Given the description of an element on the screen output the (x, y) to click on. 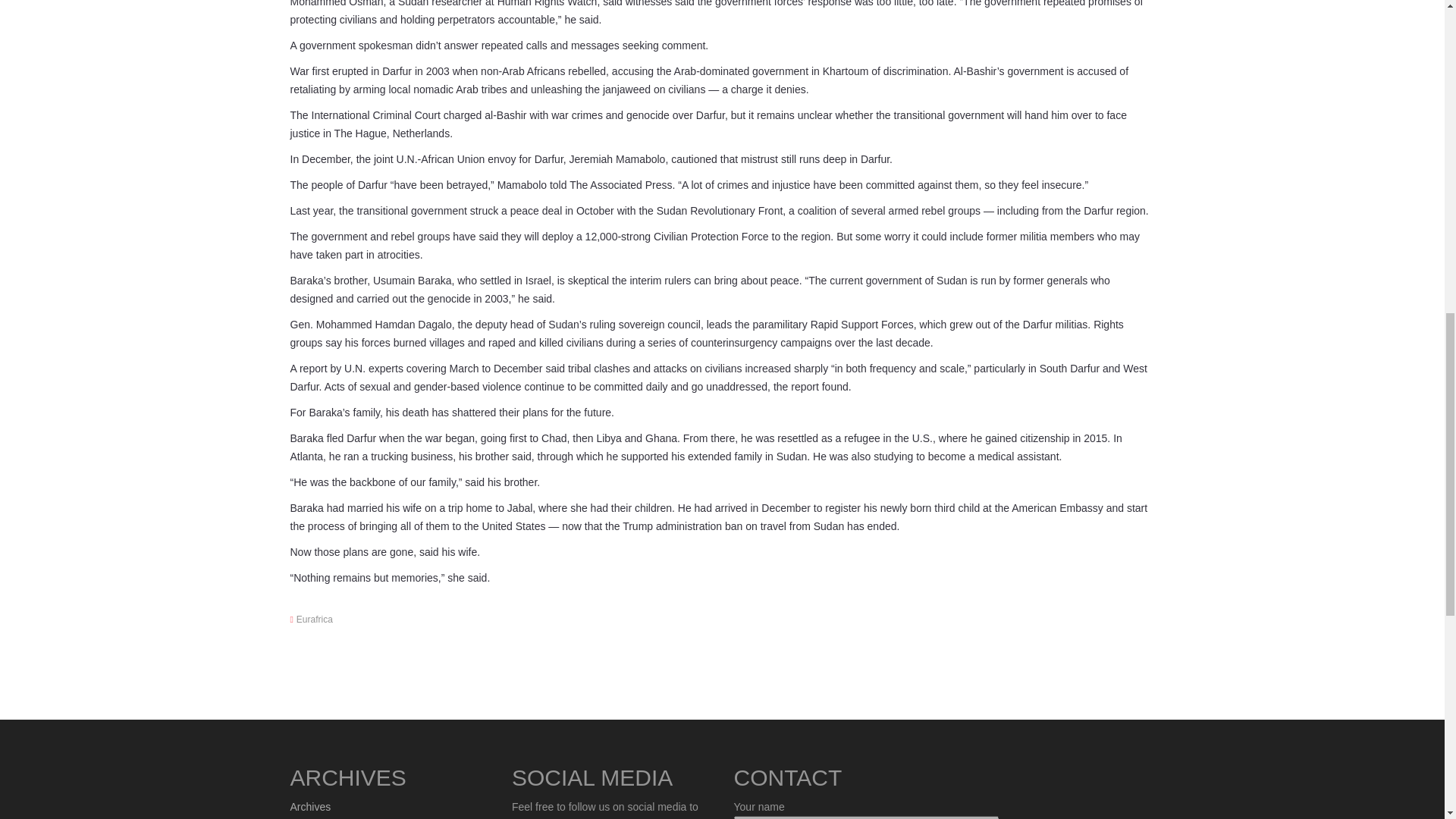
Eurafrica (315, 619)
